Given the description of an element on the screen output the (x, y) to click on. 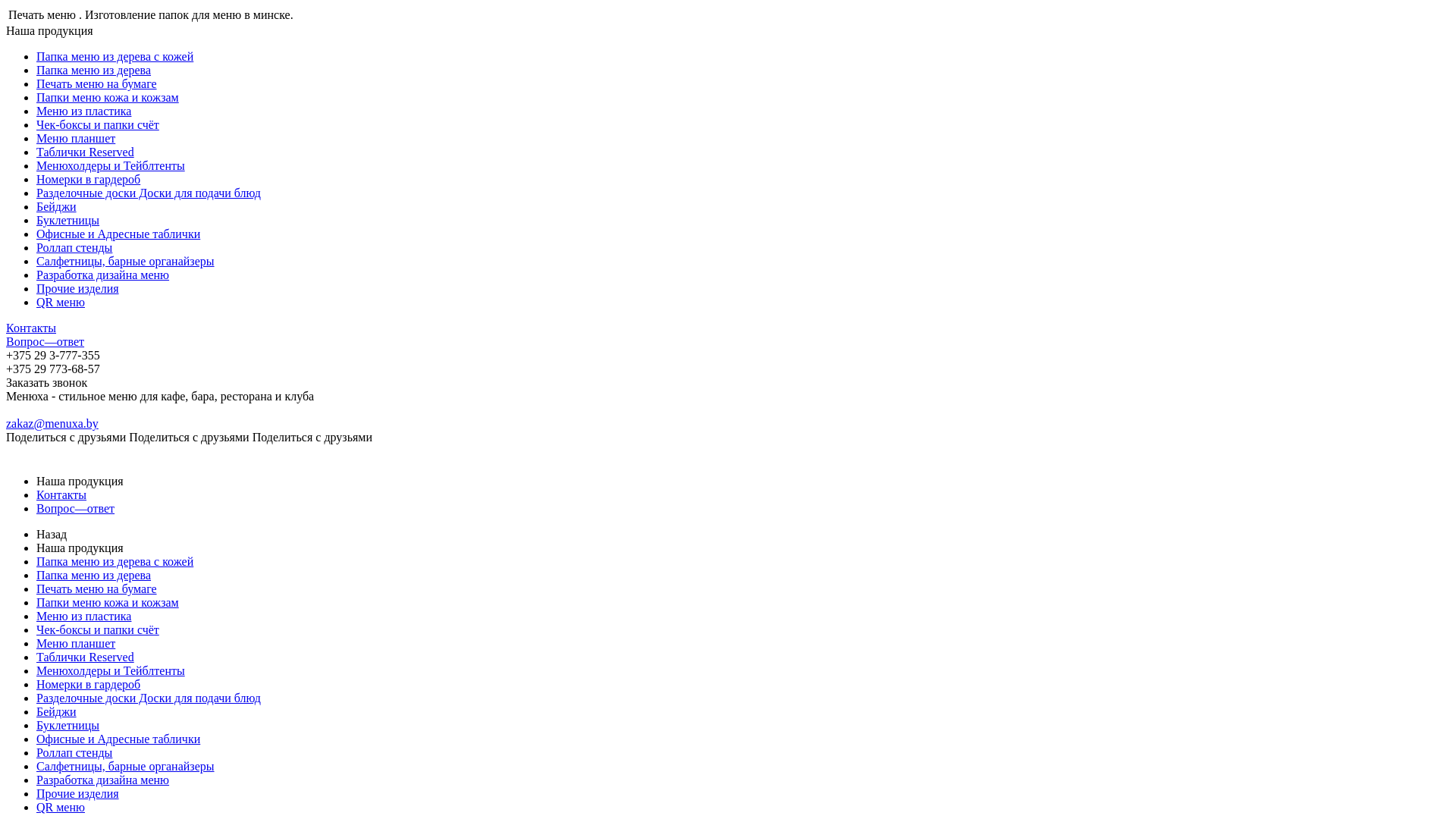
zakaz@menuxa.by Element type: text (52, 423)
